Given the description of an element on the screen output the (x, y) to click on. 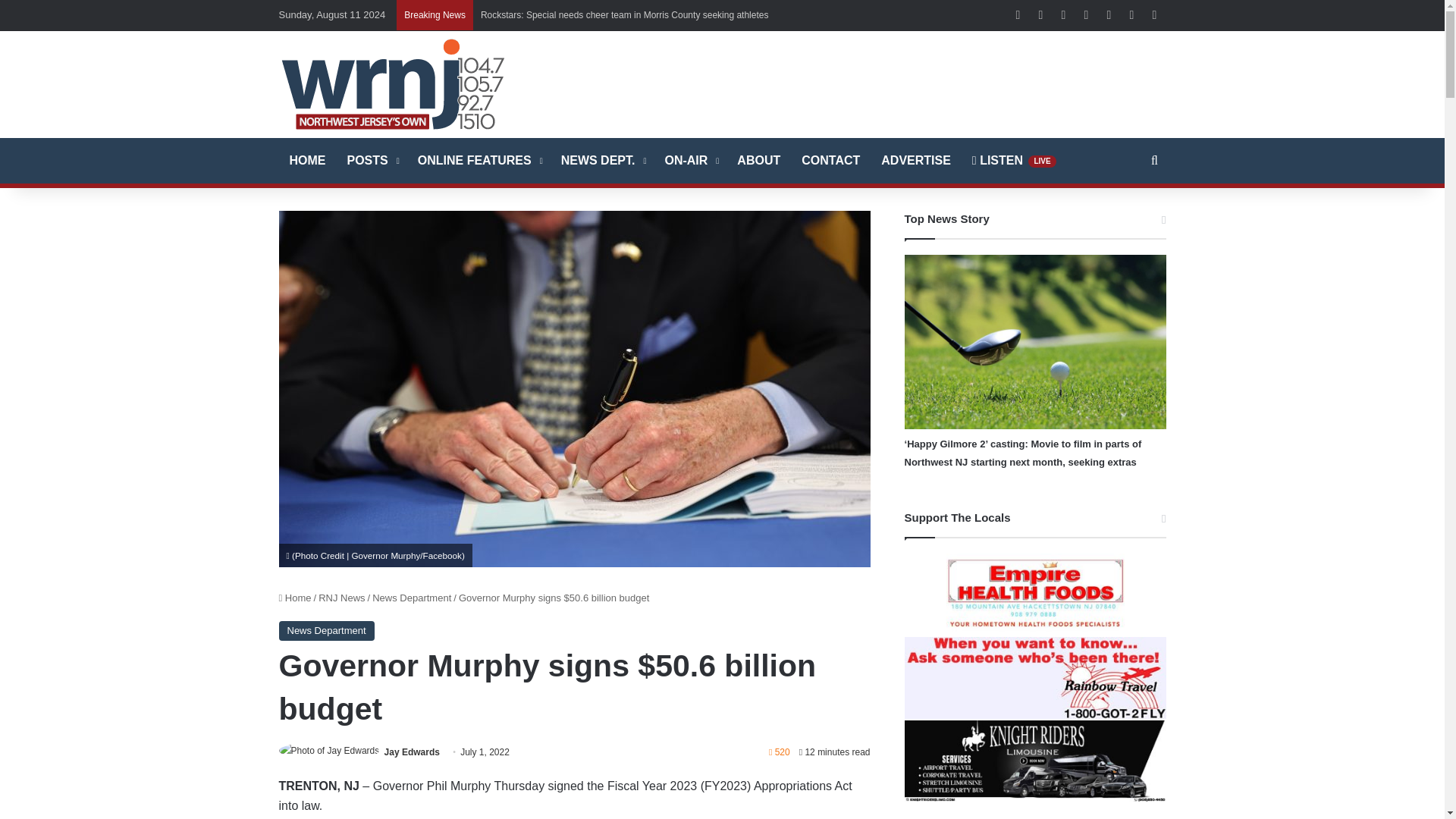
CONTACT (830, 160)
Knight Riders Limo (1035, 761)
ONLINE FEATURES (478, 160)
WRNJ Radio (392, 83)
NEWS DEPT. (601, 160)
ON-AIR (689, 160)
HOME (307, 160)
POSTS (371, 160)
Empire Health Foods (1035, 594)
